Given the description of an element on the screen output the (x, y) to click on. 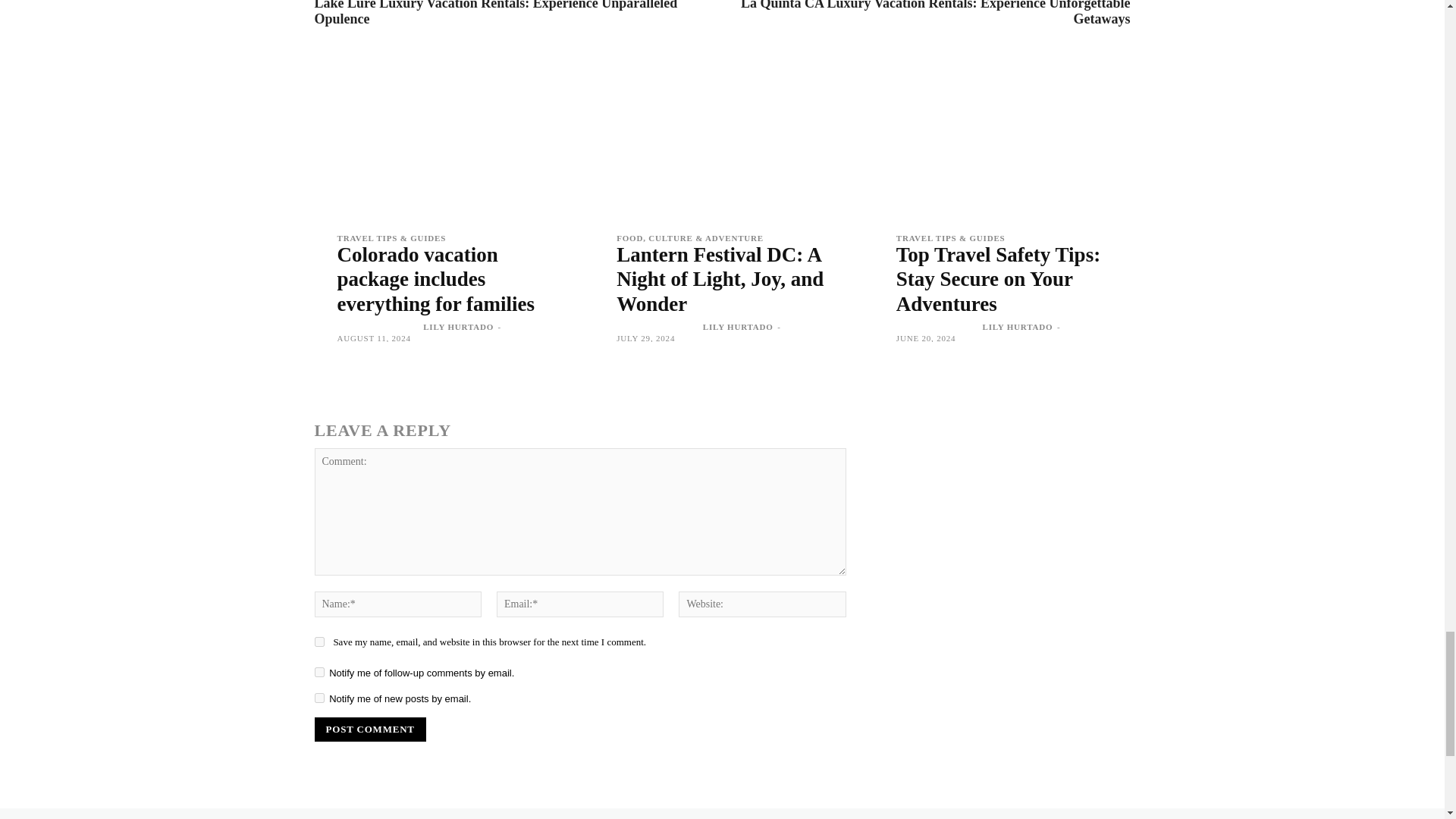
subscribe (318, 697)
subscribe (318, 672)
Post Comment (369, 729)
yes (318, 642)
